Given the description of an element on the screen output the (x, y) to click on. 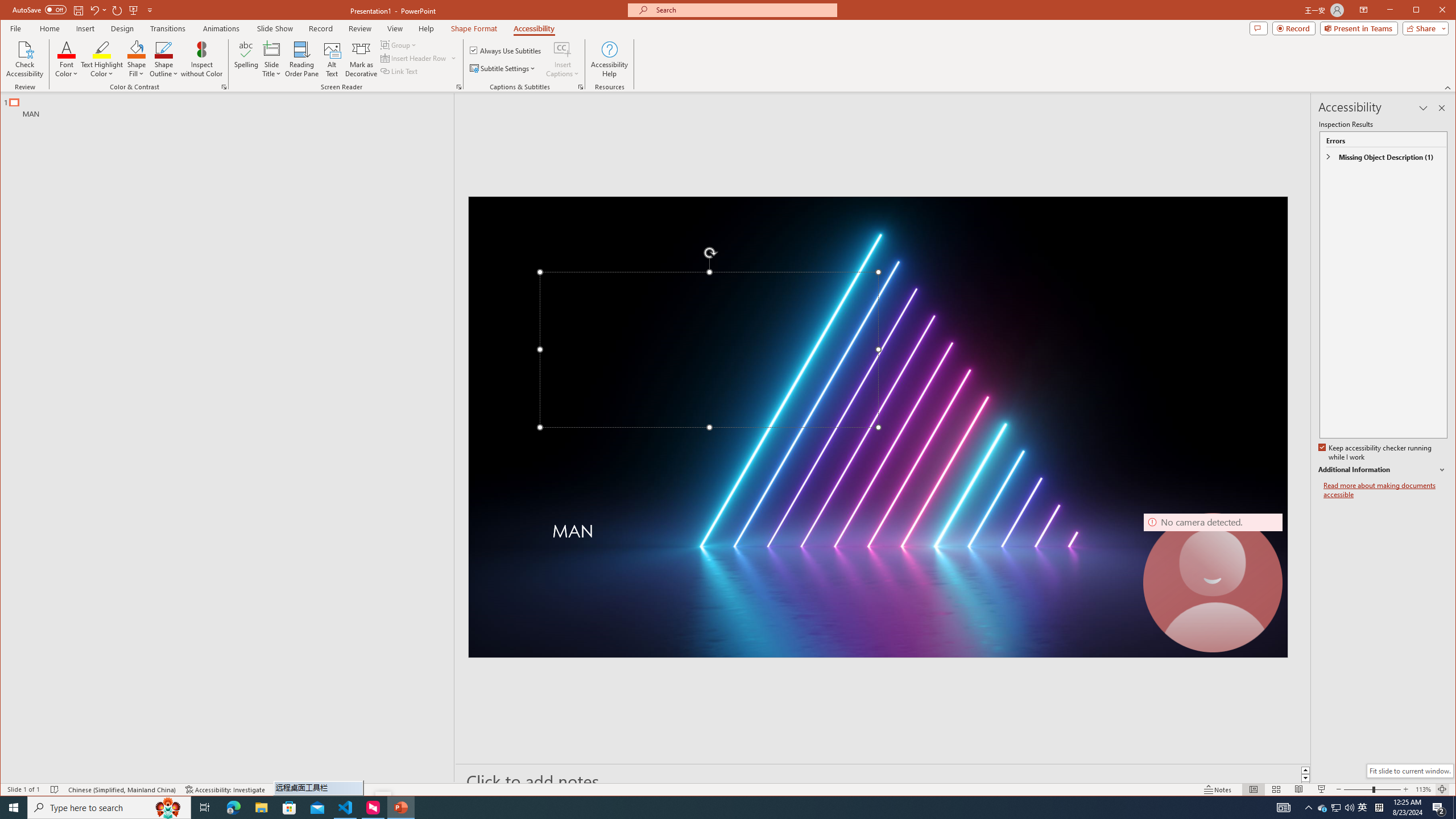
Accessibility Help (608, 59)
Insert Header Row (413, 57)
Subtitle TextBox (842, 546)
Maximize (1432, 11)
Slide Title (271, 59)
